Given the description of an element on the screen output the (x, y) to click on. 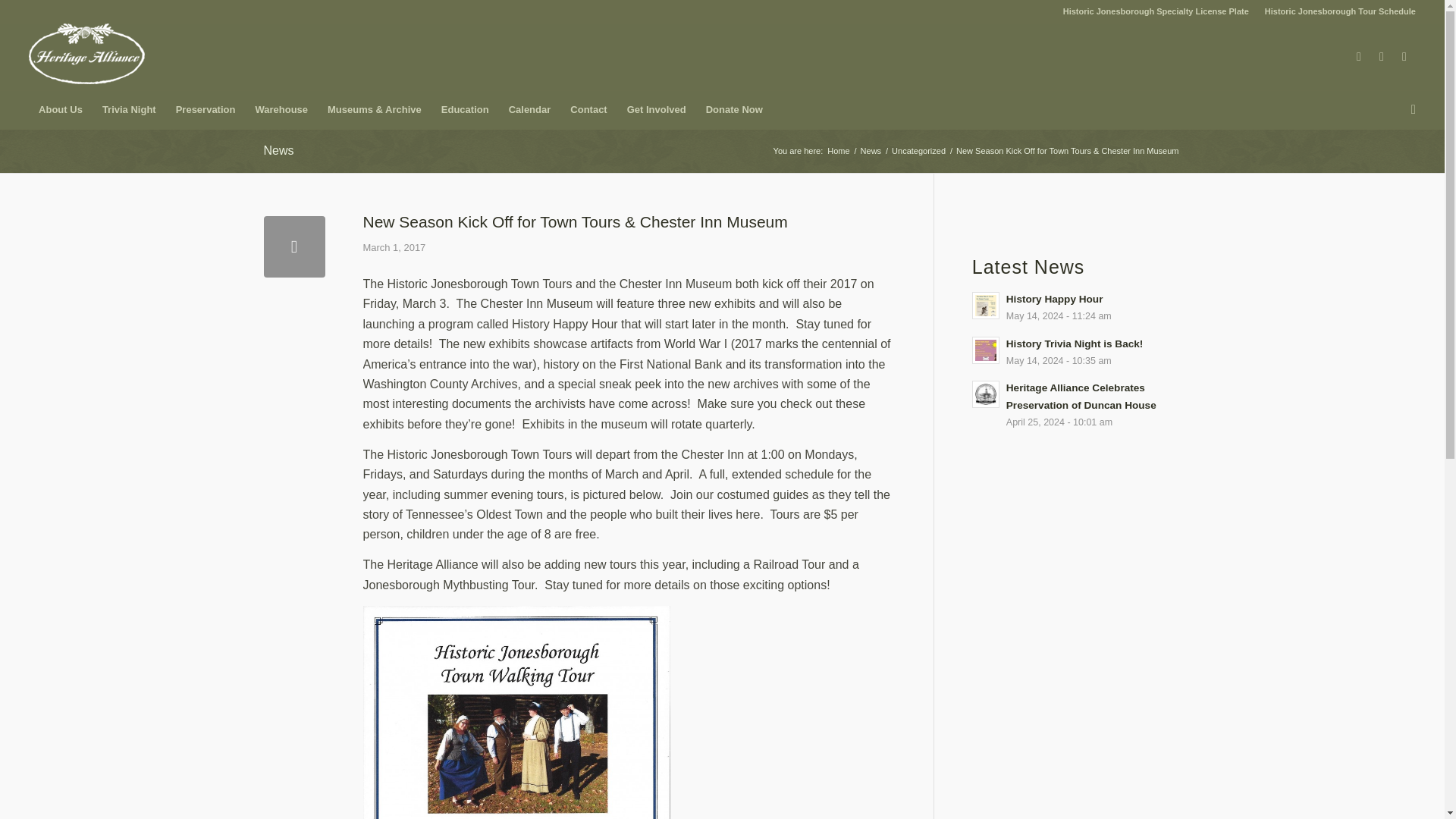
Facebook (1359, 56)
History Happy Hour (1076, 307)
History Trivia Night is Back! (1076, 351)
Heritage Alliance (838, 151)
Permanent Link: News (278, 150)
Preservation (205, 109)
Historic Jonesborough Tour Schedule (1340, 11)
About Us (61, 109)
Trivia Night (129, 109)
Instagram (1381, 56)
Heritage Alliance Celebrates Preservation of Duncan House (1076, 404)
Historic Jonesborough Specialty License Plate (1155, 11)
Warehouse (280, 109)
Youtube (1404, 56)
heritage-header-logo-01.png (86, 53)
